Given the description of an element on the screen output the (x, y) to click on. 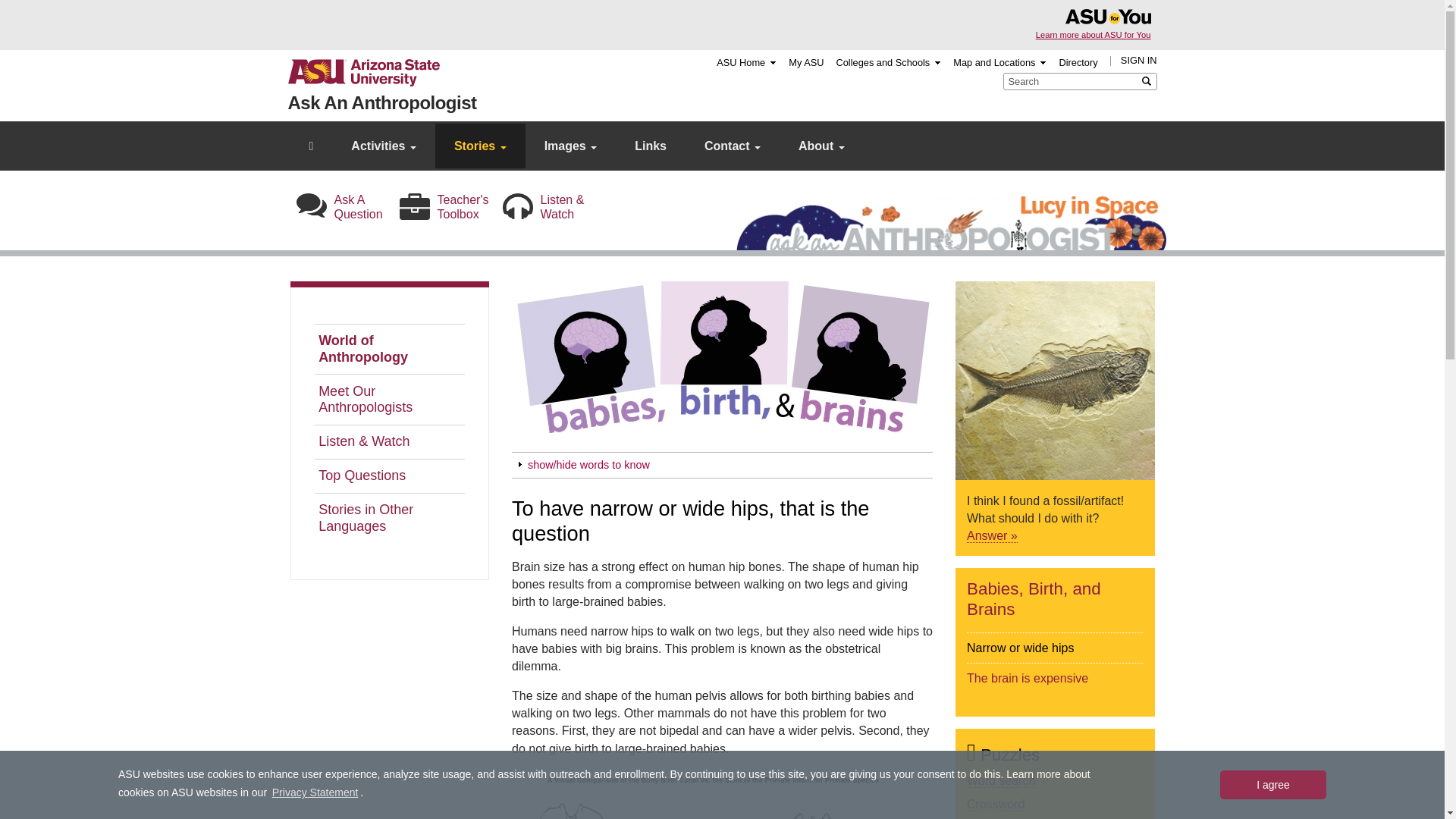
SIGN IN (1139, 60)
Privacy Statement (314, 792)
Search (1149, 80)
Search (1149, 80)
Learn more about ASU for You (1093, 34)
I agree (1273, 784)
